Given the description of an element on the screen output the (x, y) to click on. 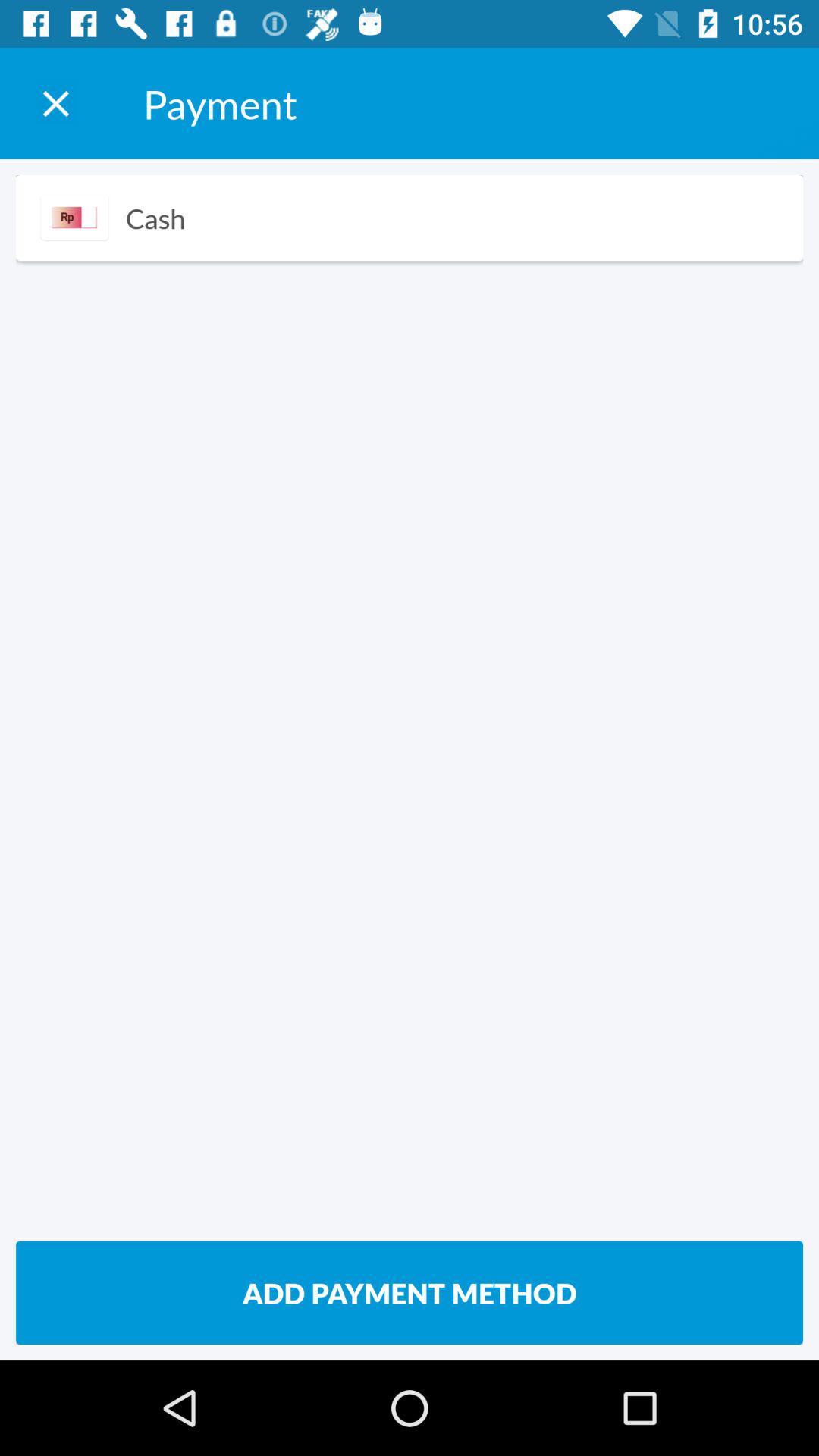
exit (55, 103)
